Given the description of an element on the screen output the (x, y) to click on. 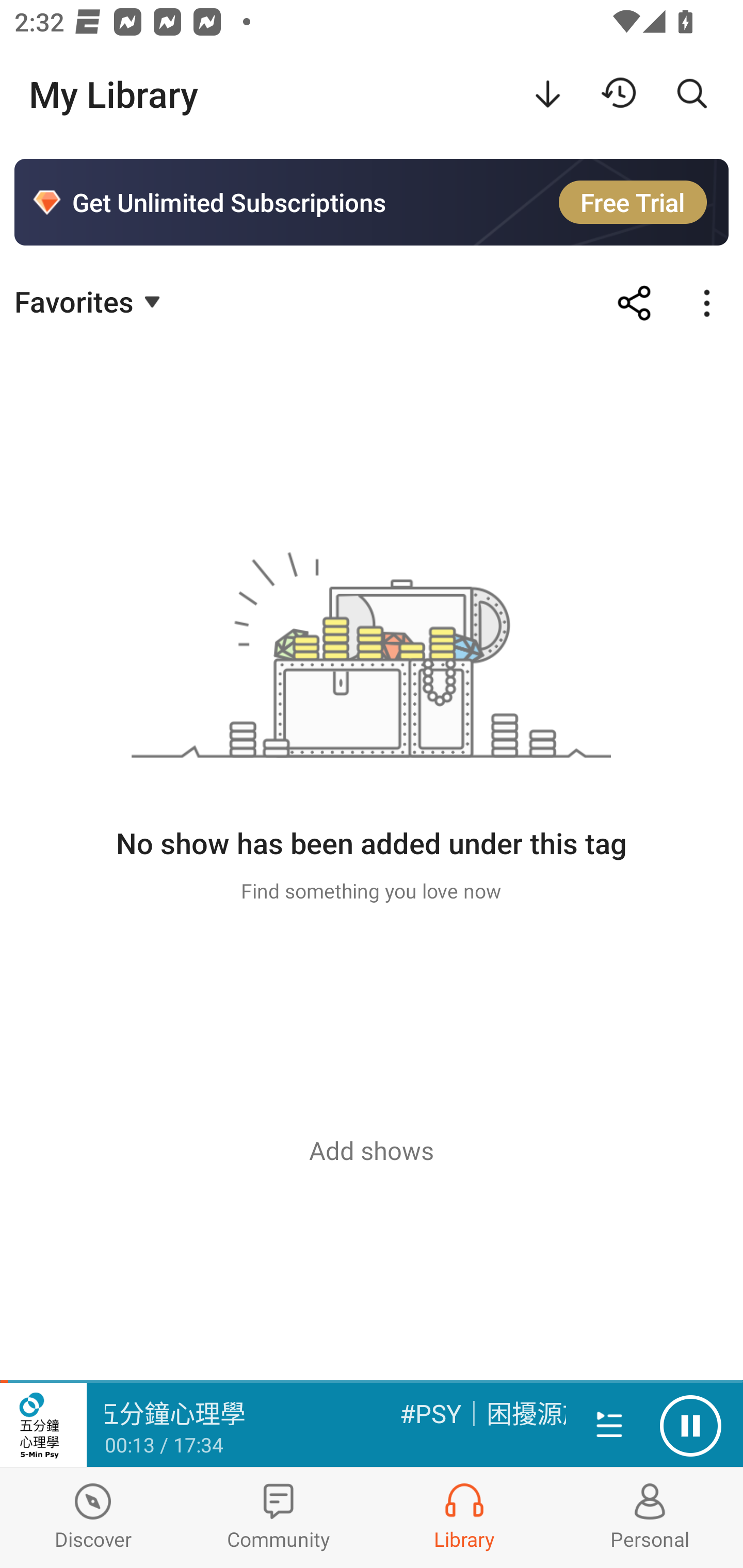
Get Unlimited Subscriptions Free Trial (371, 202)
Free Trial (632, 202)
Favorites (90, 300)
Add shows (371, 1150)
Pause (690, 1425)
Discover (92, 1517)
Community (278, 1517)
Library (464, 1517)
Profiles and Settings Personal (650, 1517)
